Given the description of an element on the screen output the (x, y) to click on. 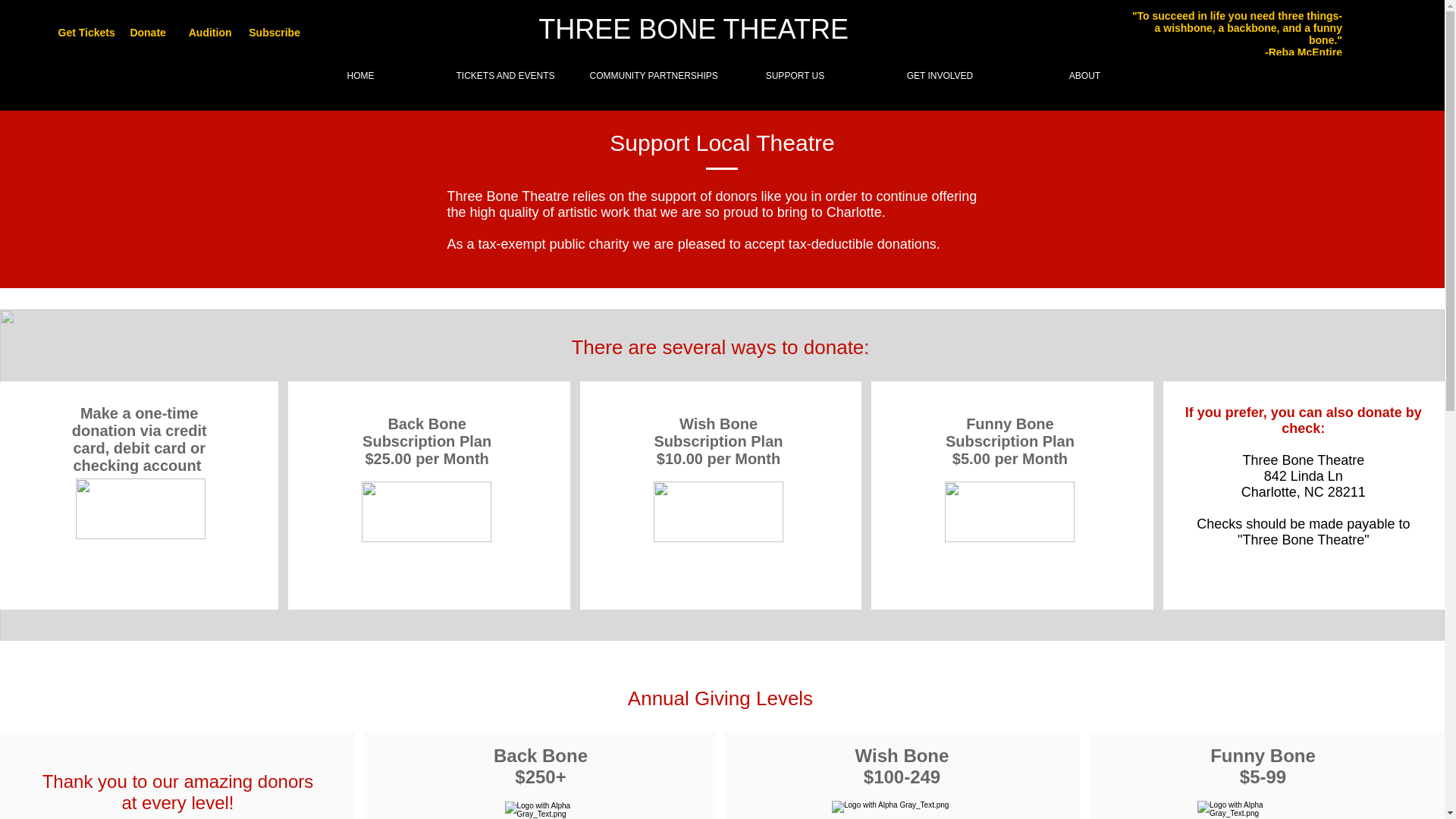
HOME (360, 76)
Get Tickets (87, 33)
Donate (148, 33)
Subscribe (275, 33)
THREE BONE THEATRE (693, 29)
Audition (210, 33)
COMMUNITY PARTNERSHIPS (650, 76)
